Given the description of an element on the screen output the (x, y) to click on. 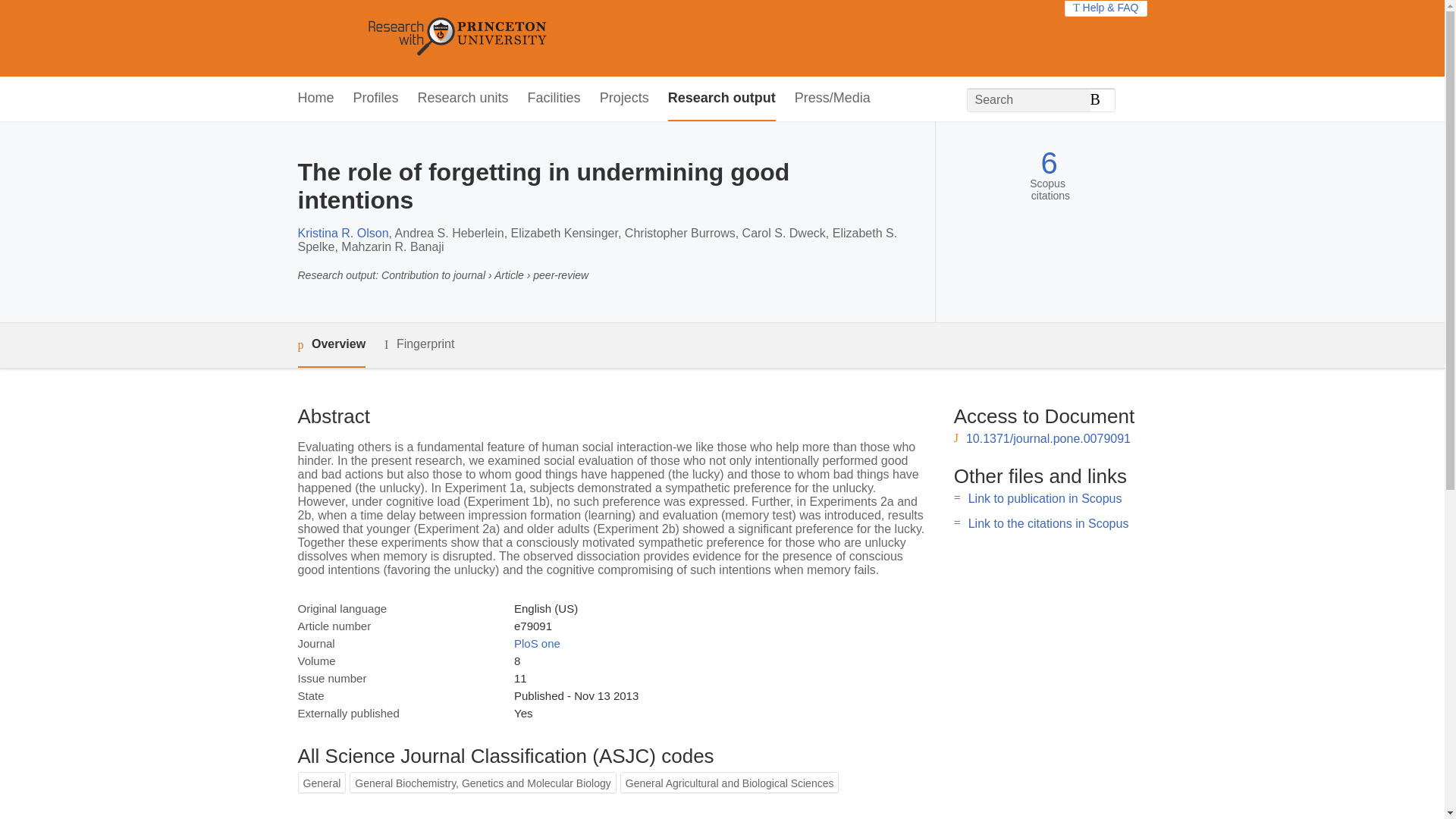
Research output (722, 98)
Link to publication in Scopus (1045, 498)
Facilities (553, 98)
Projects (624, 98)
PloS one (536, 643)
Profiles (375, 98)
Fingerprint (419, 344)
Overview (331, 344)
Research units (462, 98)
Kristina R. Olson (342, 232)
